Given the description of an element on the screen output the (x, y) to click on. 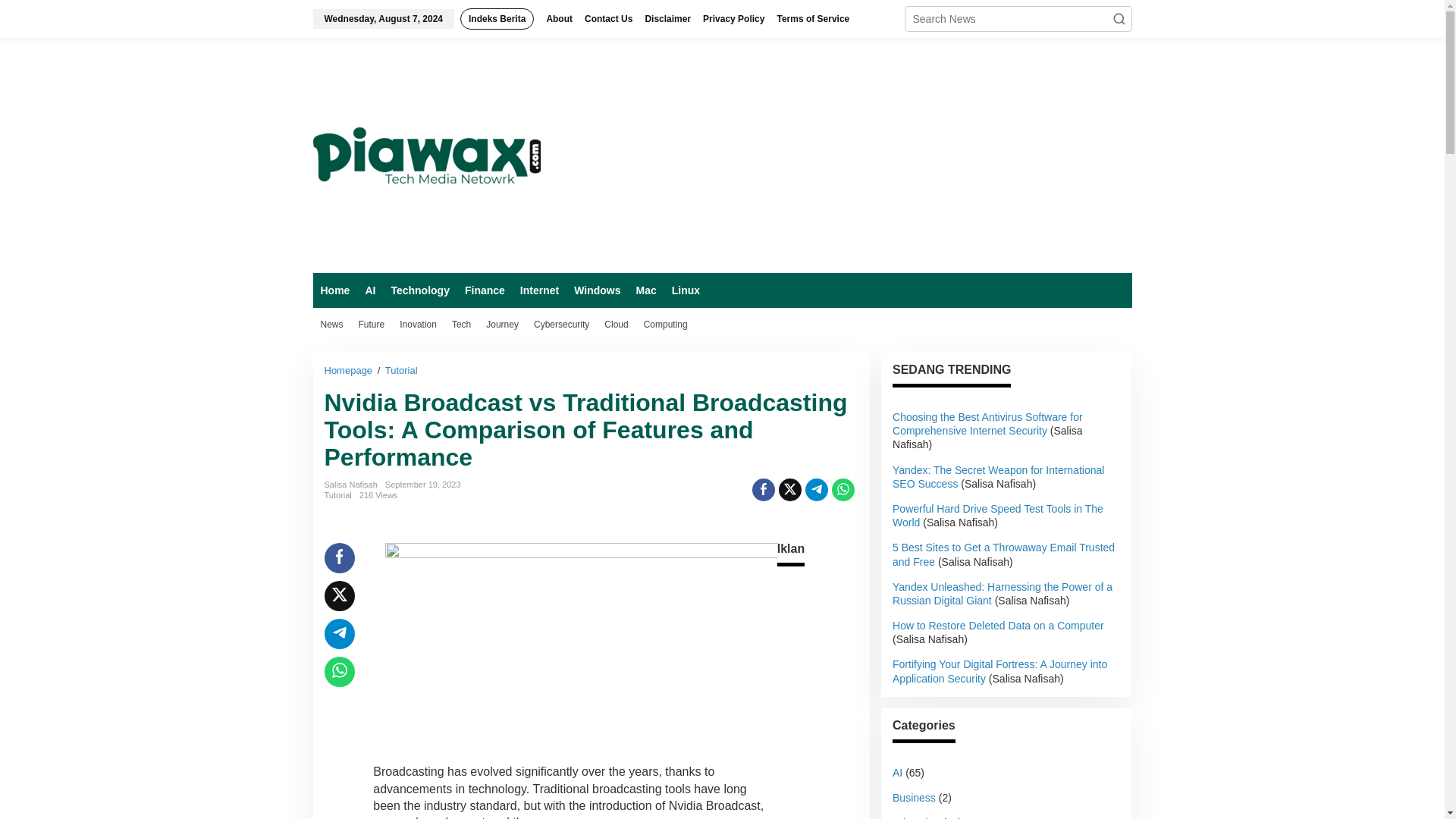
Indeks Berita (497, 18)
Piawax (426, 154)
Windows (596, 289)
Homepage (349, 369)
Cybersecurity (560, 324)
Indeks Berita (497, 18)
News (331, 324)
Contact Us (608, 18)
Home (334, 289)
Privacy Policy (733, 18)
Mac (645, 289)
Permalink to: Salisa Nafisah (350, 483)
Inovation (417, 324)
Cloud (615, 324)
